Given the description of an element on the screen output the (x, y) to click on. 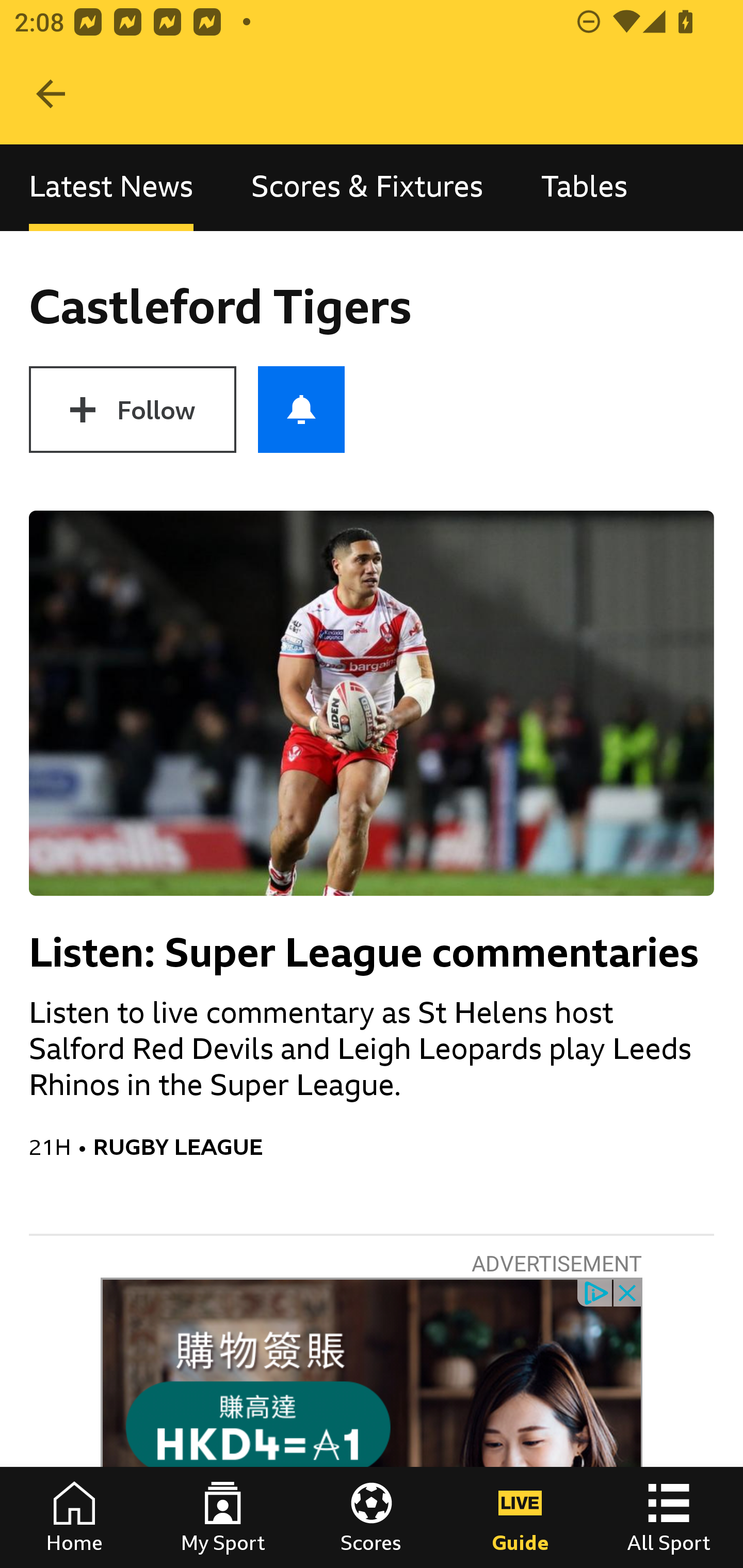
Navigate up (50, 93)
Latest News, selected Latest News (111, 187)
Scores & Fixtures (367, 187)
Tables (584, 187)
Follow Castleford Tigers Follow (132, 409)
Push notifications for Castleford Tigers (300, 409)
RUGBY LEAGUE In the section Rugby League (403, 1146)
privacy_small (595, 1291)
close_button (627, 1291)
Home (74, 1517)
My Sport (222, 1517)
Scores (371, 1517)
All Sport (668, 1517)
